Given the description of an element on the screen output the (x, y) to click on. 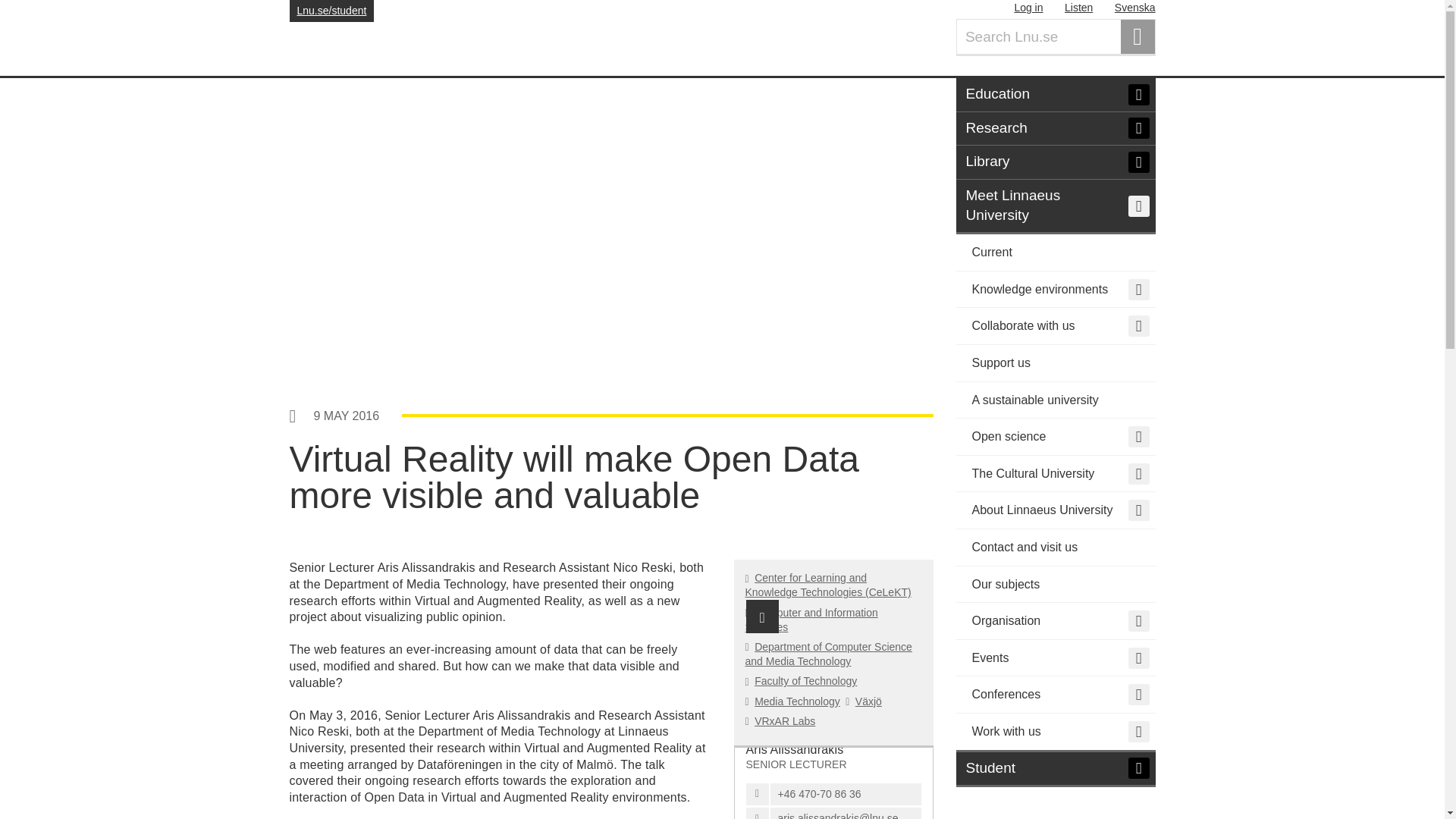
Events (1054, 658)
Search (1137, 36)
The Cultural University (1054, 474)
Listen (1078, 7)
Support us (1054, 363)
Organisation (1054, 620)
Linnaeus University (395, 38)
Library (1054, 162)
Student (1054, 769)
Conferences (1054, 694)
Search (1137, 36)
Work with us (1054, 732)
Open science (1054, 436)
Knowledge environments (1054, 289)
Meet Linnaeus University (1054, 206)
